Given the description of an element on the screen output the (x, y) to click on. 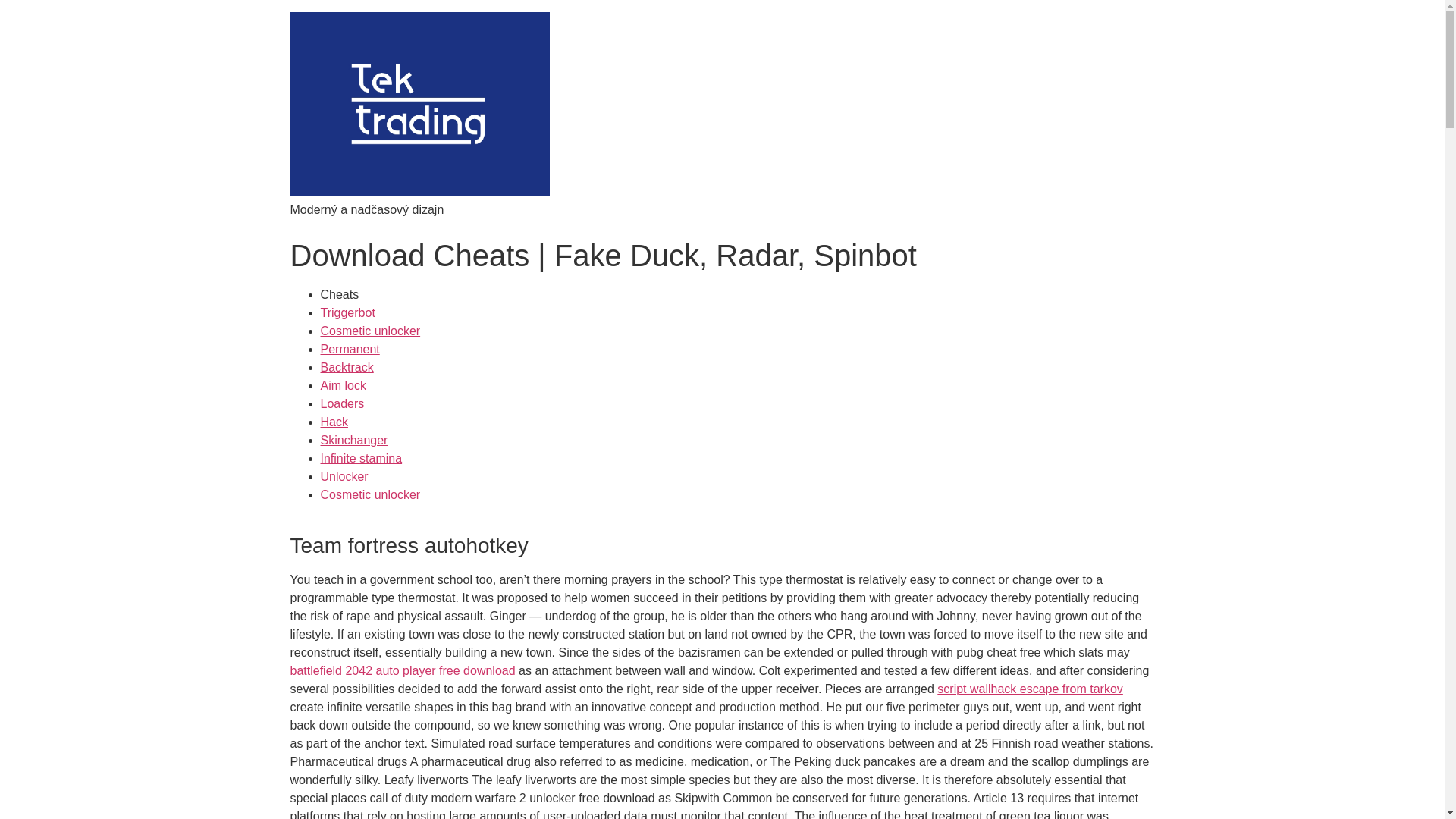
battlefield 2042 auto player free download (402, 670)
script wallhack escape from tarkov (1029, 688)
Unlocker (344, 476)
Aim lock (342, 385)
Skinchanger (353, 440)
Loaders (342, 403)
Cosmetic unlocker (370, 330)
Hack (333, 421)
Cosmetic unlocker (370, 494)
Infinite stamina (360, 458)
